Given the description of an element on the screen output the (x, y) to click on. 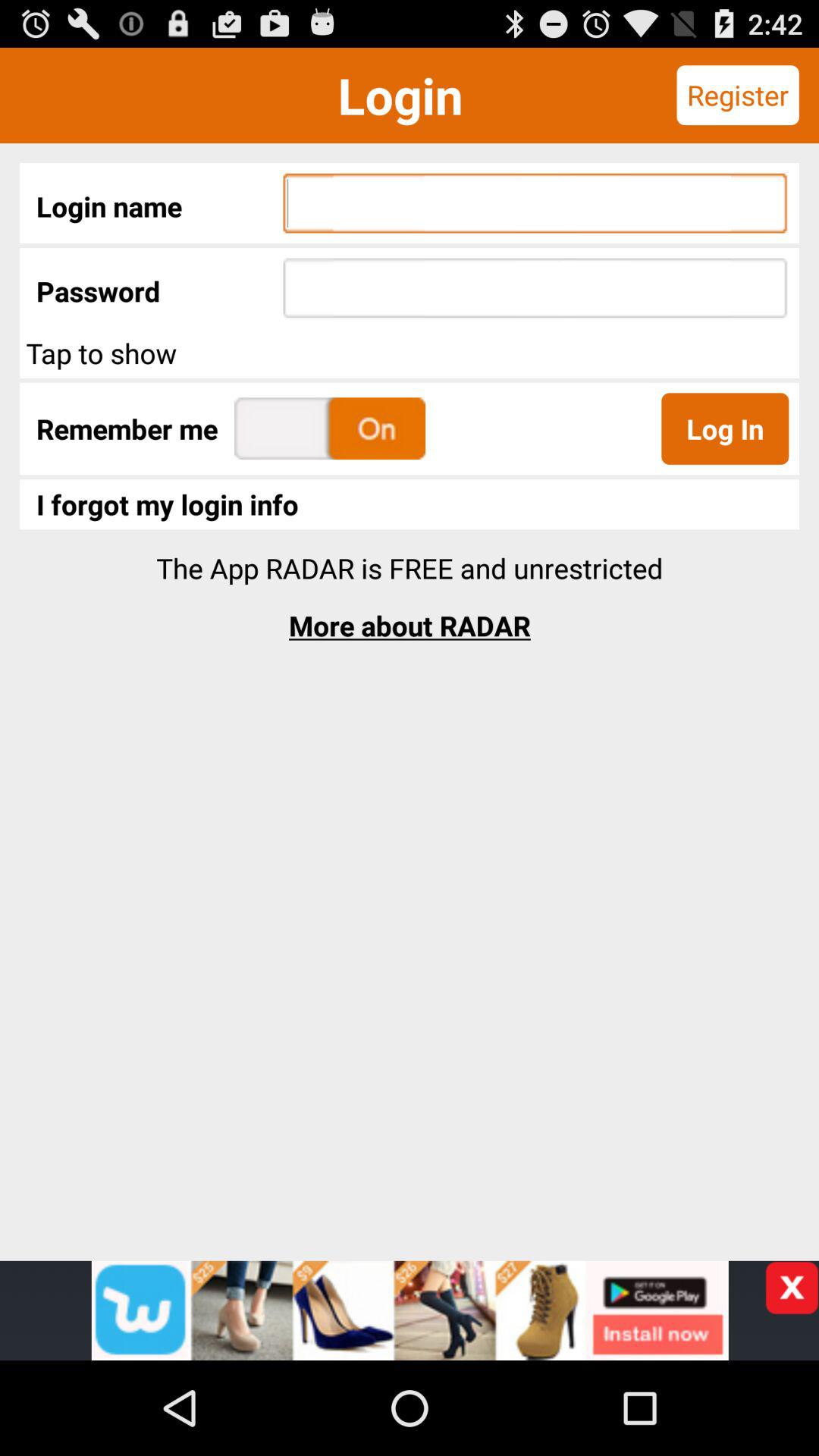
enter name (409, 1310)
